Given the description of an element on the screen output the (x, y) to click on. 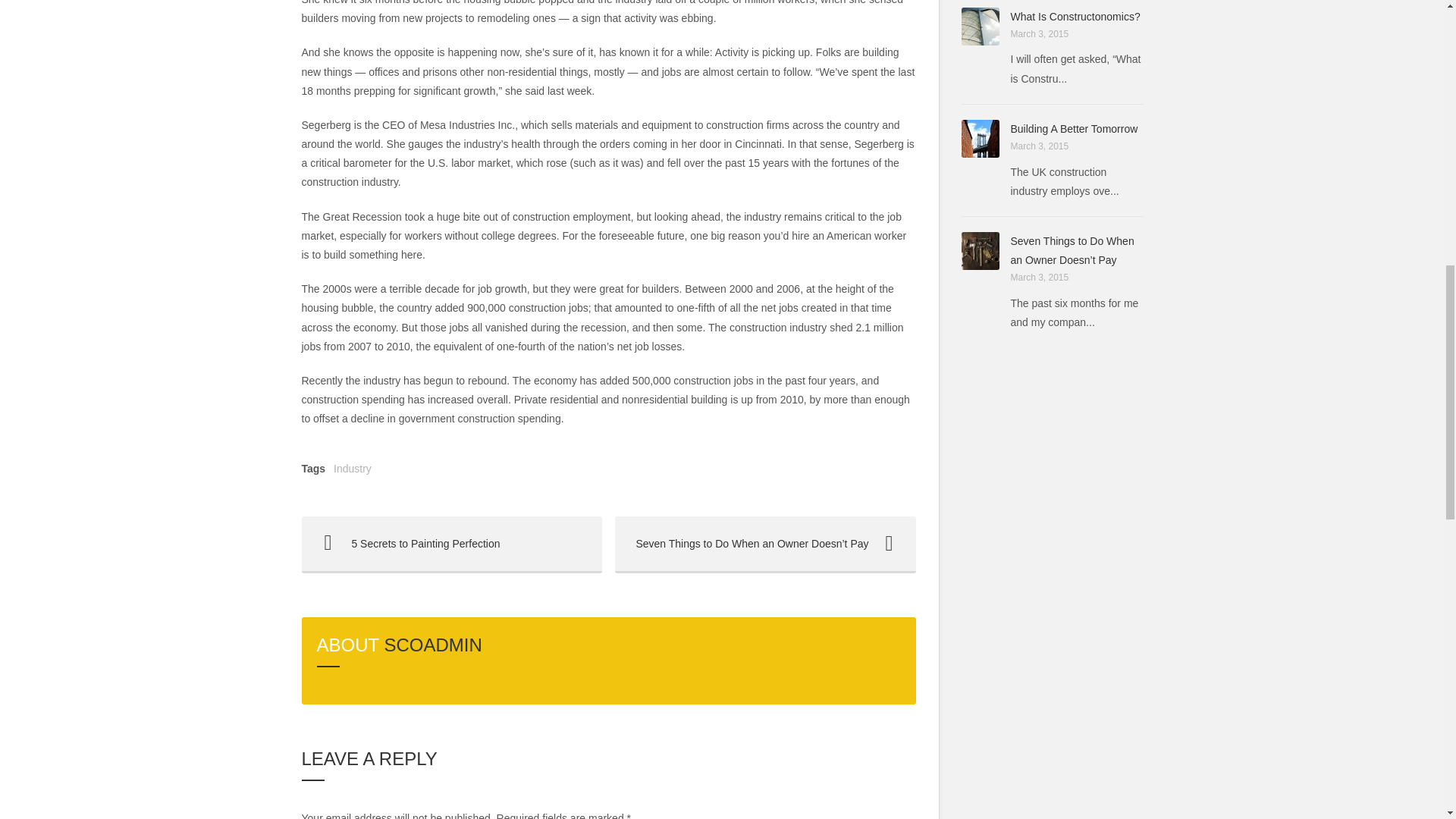
SCOADMIN (432, 644)
Industry (352, 468)
Previous Post 5 Secrets to Painting Perfection (451, 544)
